Given the description of an element on the screen output the (x, y) to click on. 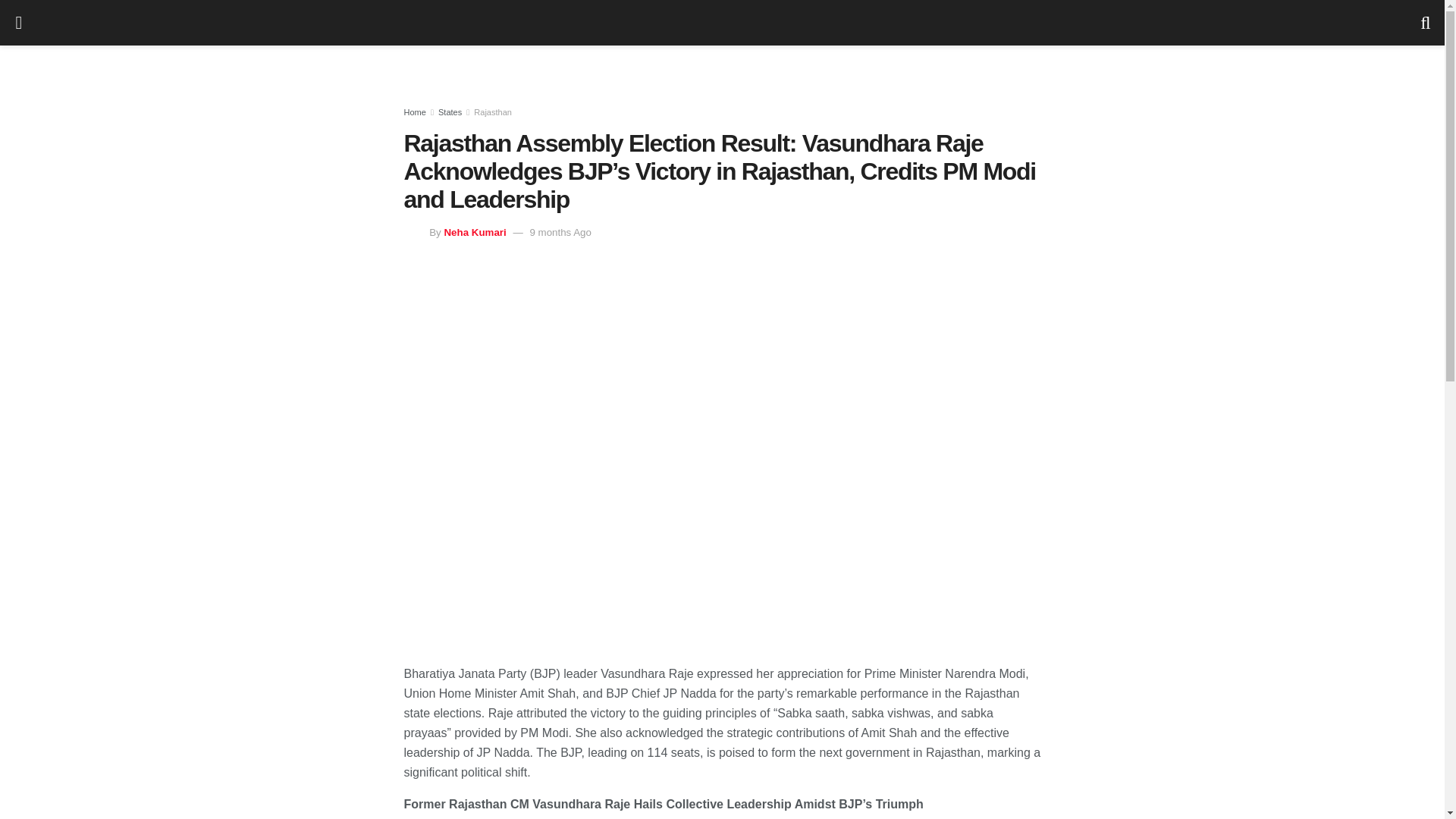
States (449, 112)
Neha Kumari (474, 232)
Rajasthan (493, 112)
Home (414, 112)
